Given the description of an element on the screen output the (x, y) to click on. 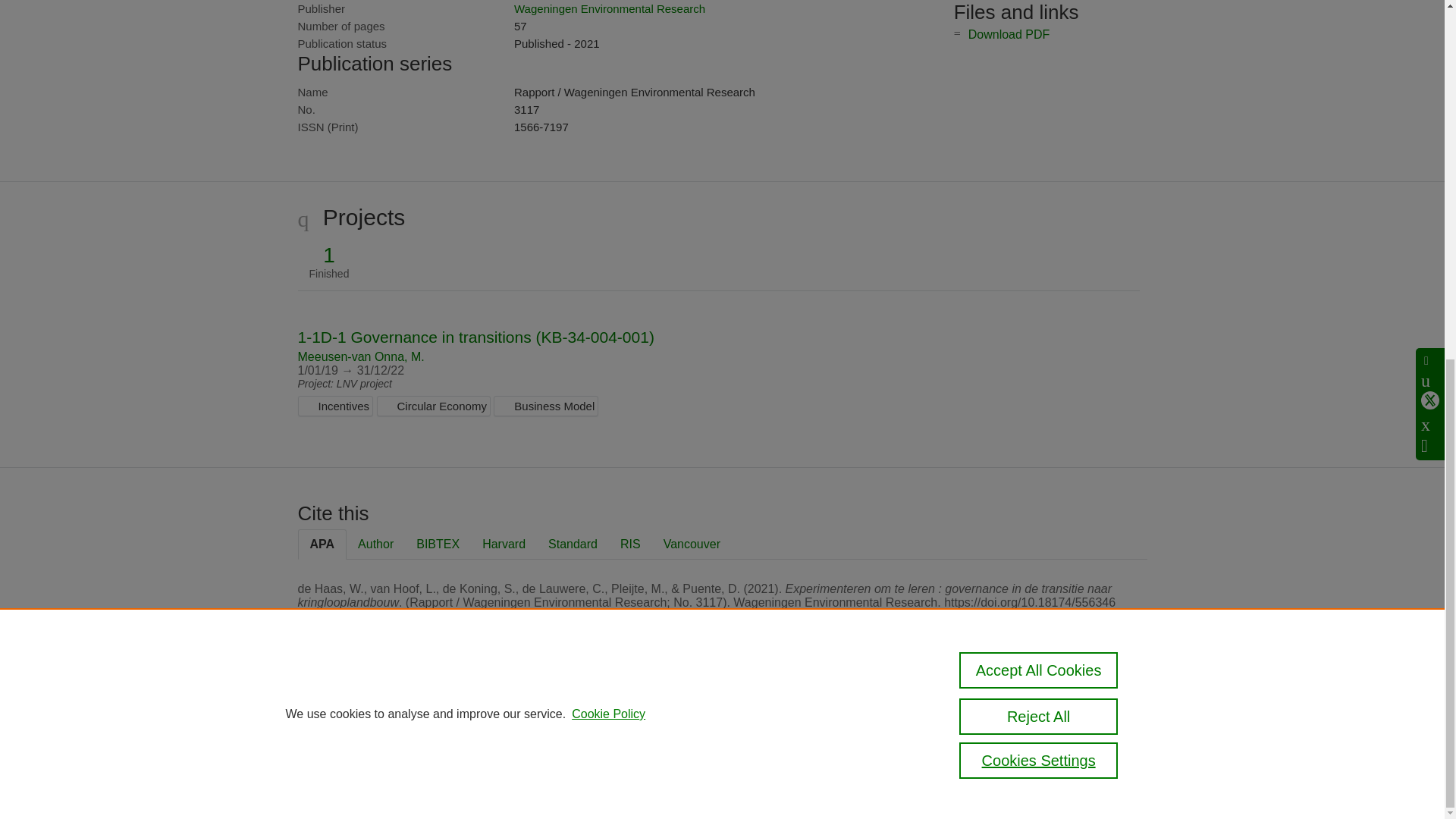
Download PDF (1008, 33)
Wageningen Environmental Research (608, 8)
Meeusen-van Onna, M. (360, 356)
1 (328, 255)
